Given the description of an element on the screen output the (x, y) to click on. 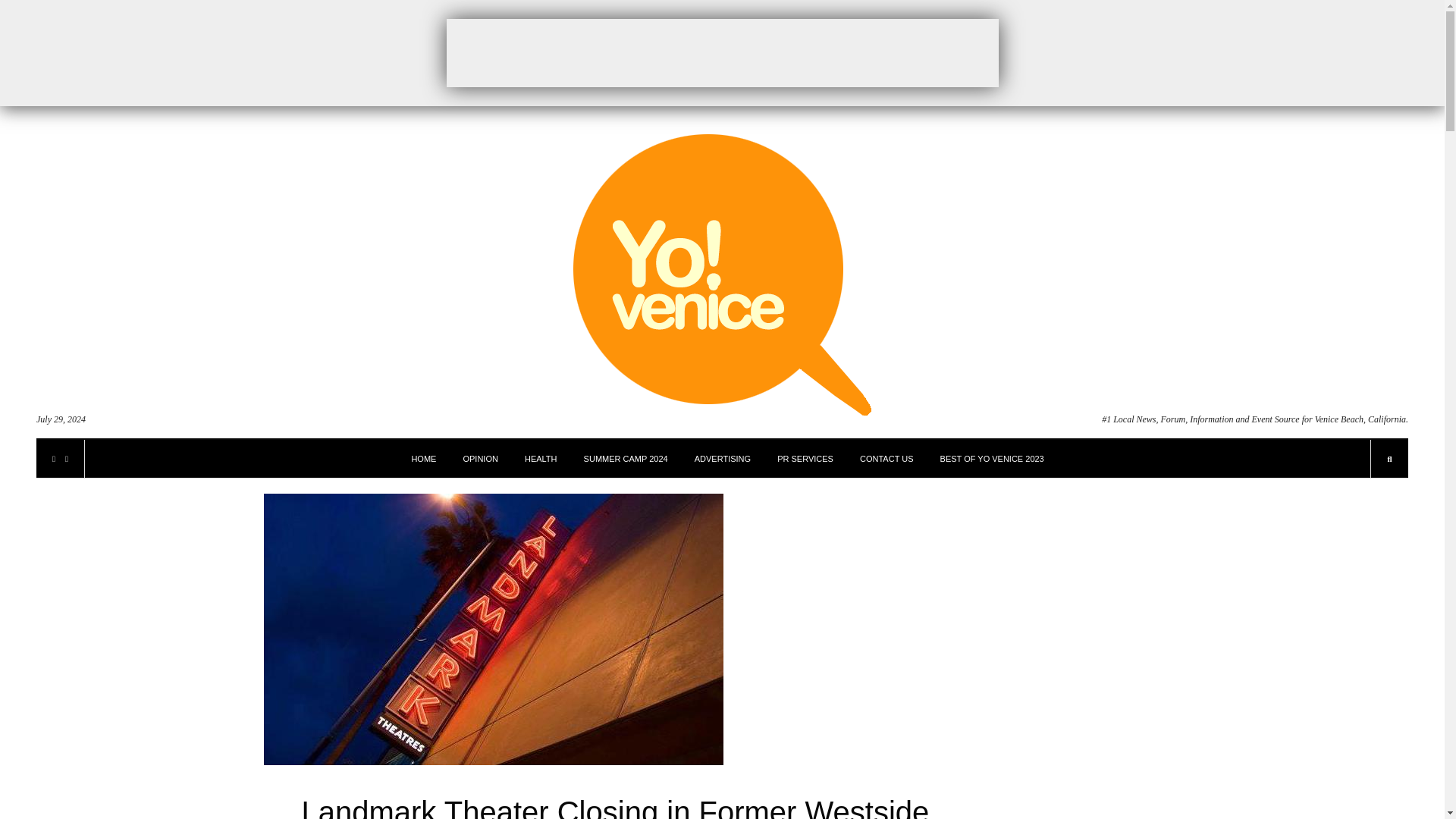
3rd party ad content (721, 52)
ADVERTISING (722, 458)
OPINION (480, 458)
CONTACT US (887, 458)
PR SERVICES (804, 458)
BEST OF YO VENICE 2023 (991, 458)
SUMMER CAMP 2024 (625, 458)
